Given the description of an element on the screen output the (x, y) to click on. 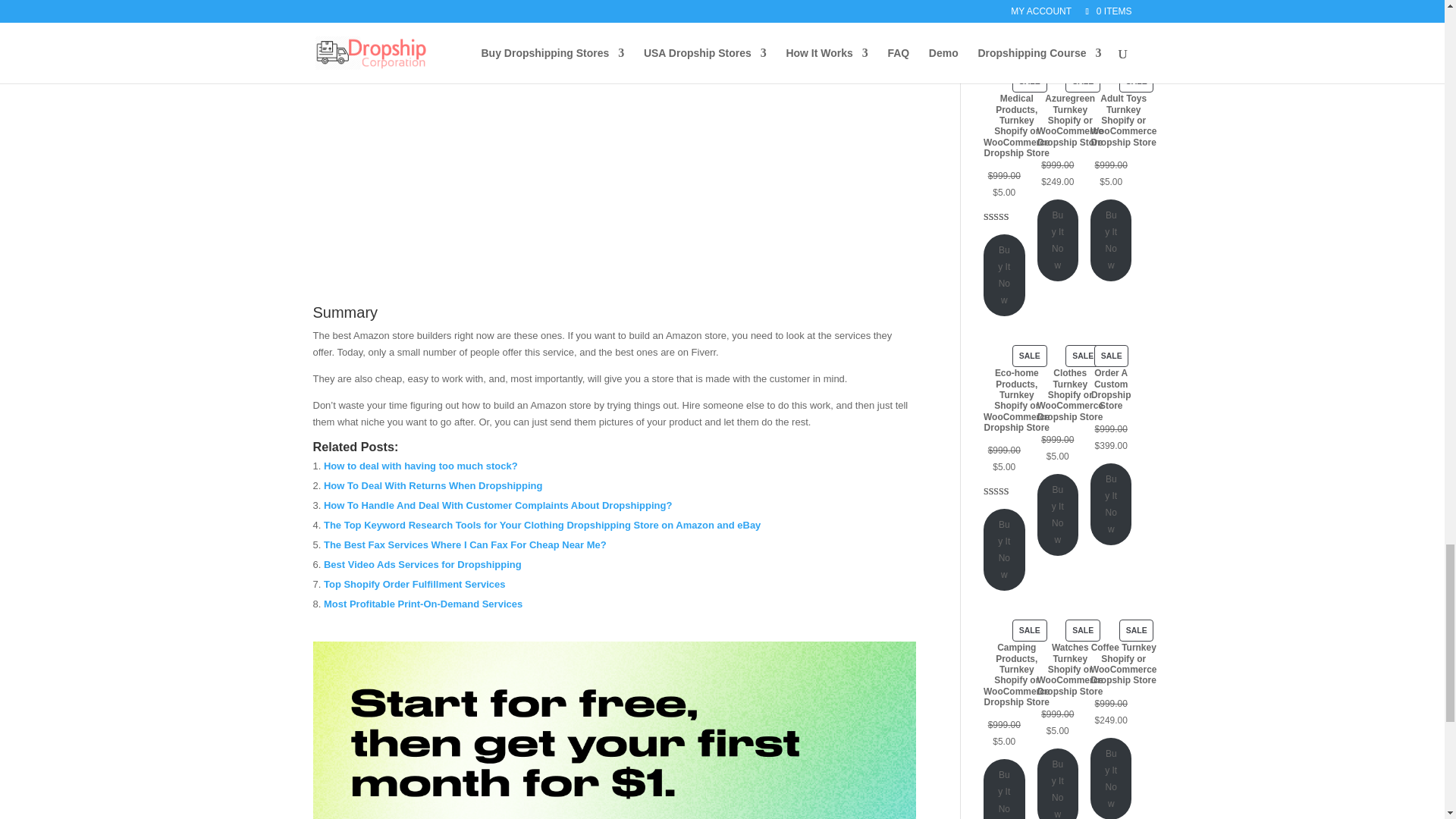
How To Deal With Returns When Dropshipping (433, 485)
Best Video Ads Services for Dropshipping (422, 564)
How to deal with having too much stock? (420, 465)
The Best Fax Services Where I Can Fax For Cheap Near Me? (465, 544)
Top Shopify Order Fulfillment Services (414, 583)
Most Profitable Print-On-Demand Services (422, 603)
